Given the description of an element on the screen output the (x, y) to click on. 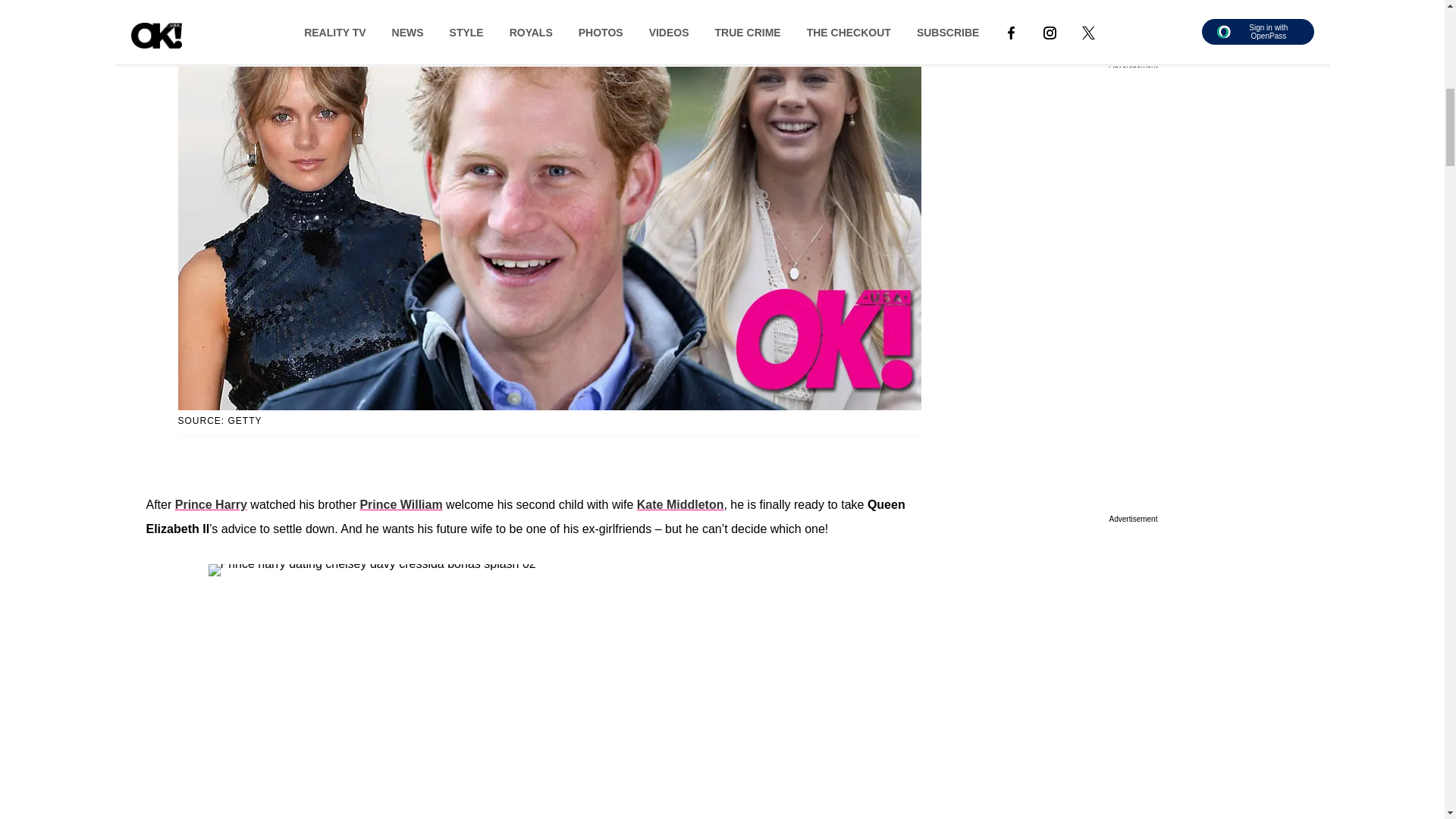
Prince William (400, 504)
Prince Harry (210, 504)
Kate Middleton (680, 504)
